Given the description of an element on the screen output the (x, y) to click on. 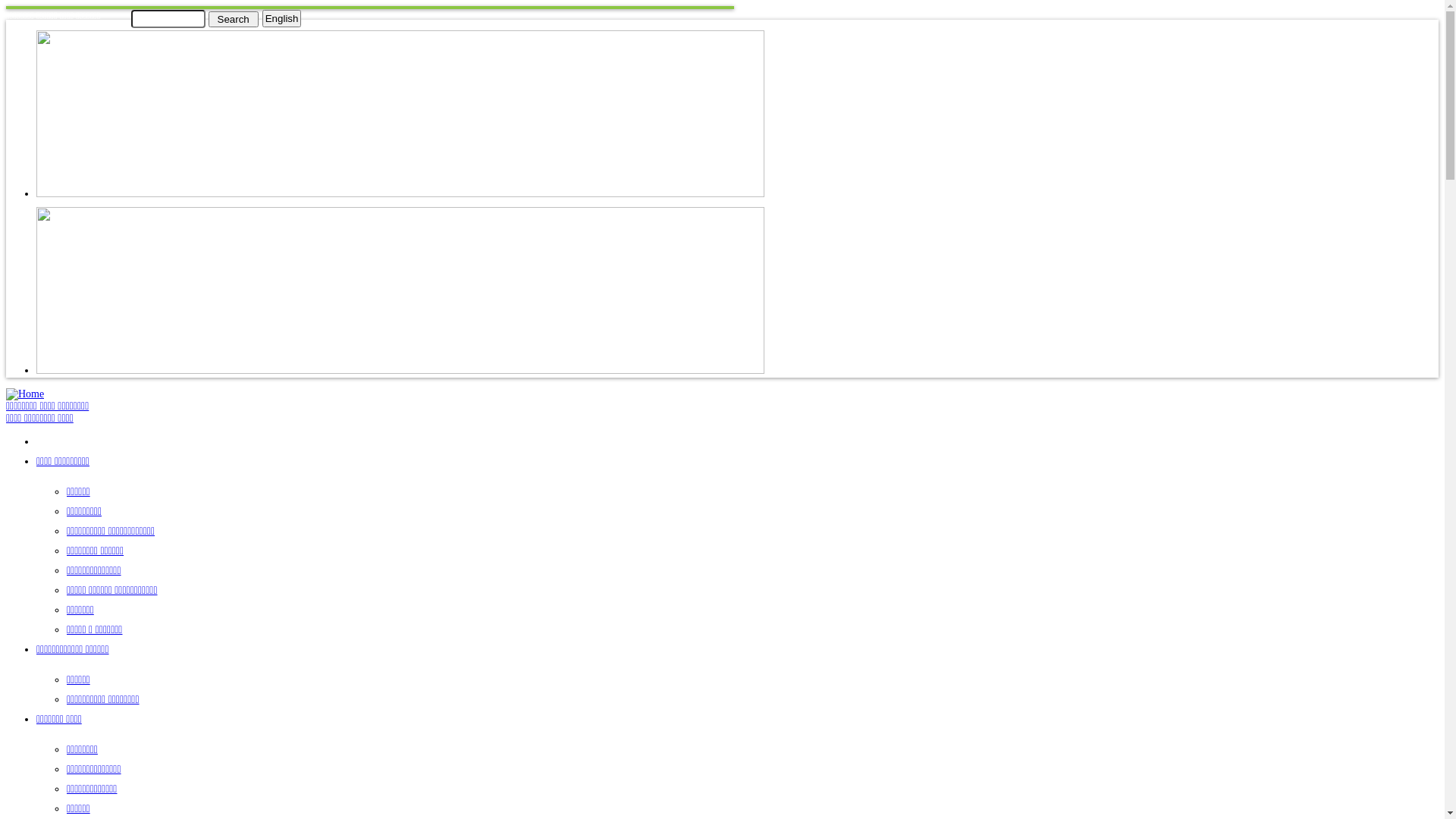
Search Element type: text (232, 18)
Home Element type: hover (24, 393)
English Element type: text (281, 18)
